Given the description of an element on the screen output the (x, y) to click on. 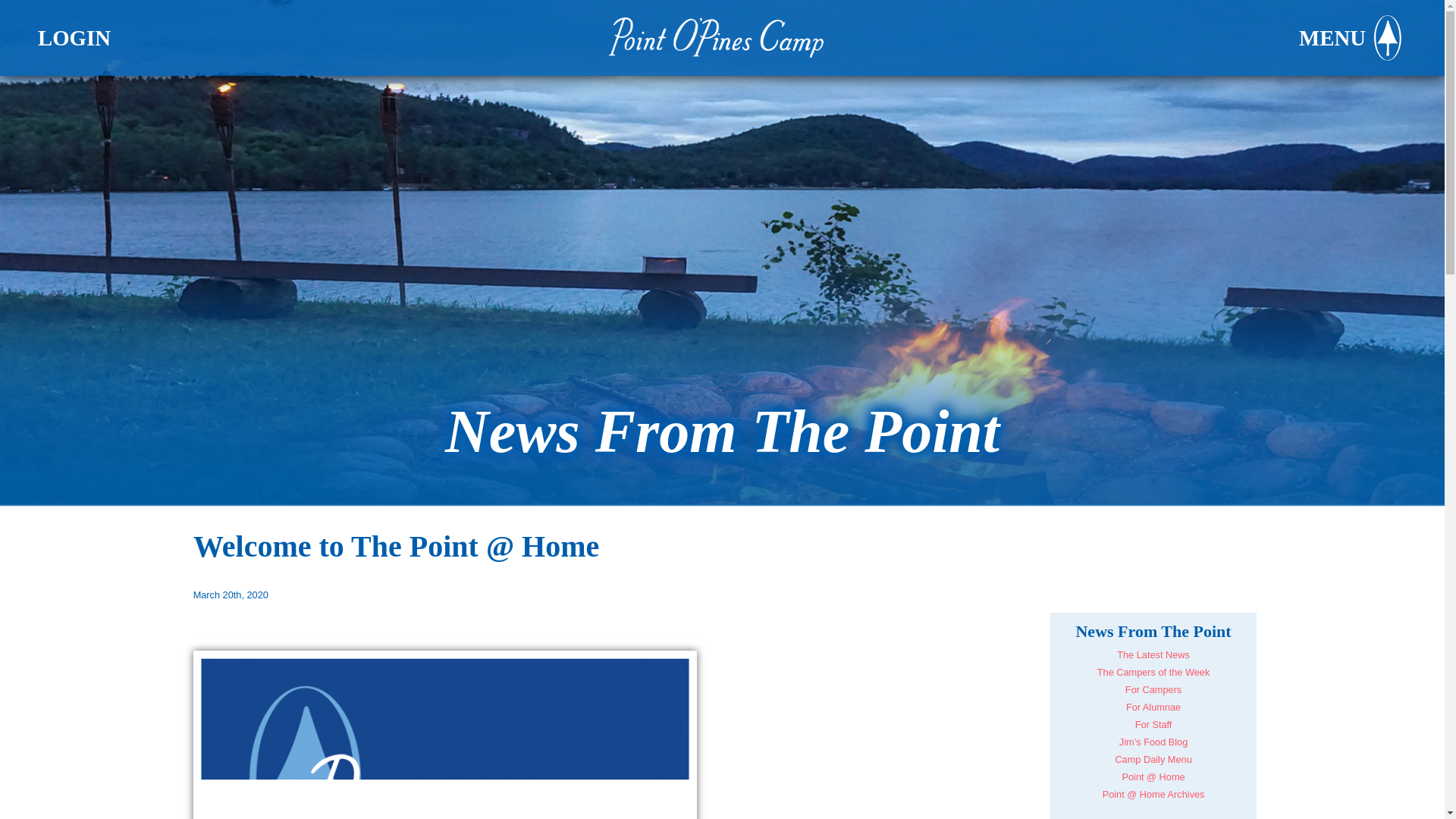
MENU (1352, 38)
Log in to summer camp account (73, 38)
Back to homepage (721, 37)
LOGIN (73, 38)
